Given the description of an element on the screen output the (x, y) to click on. 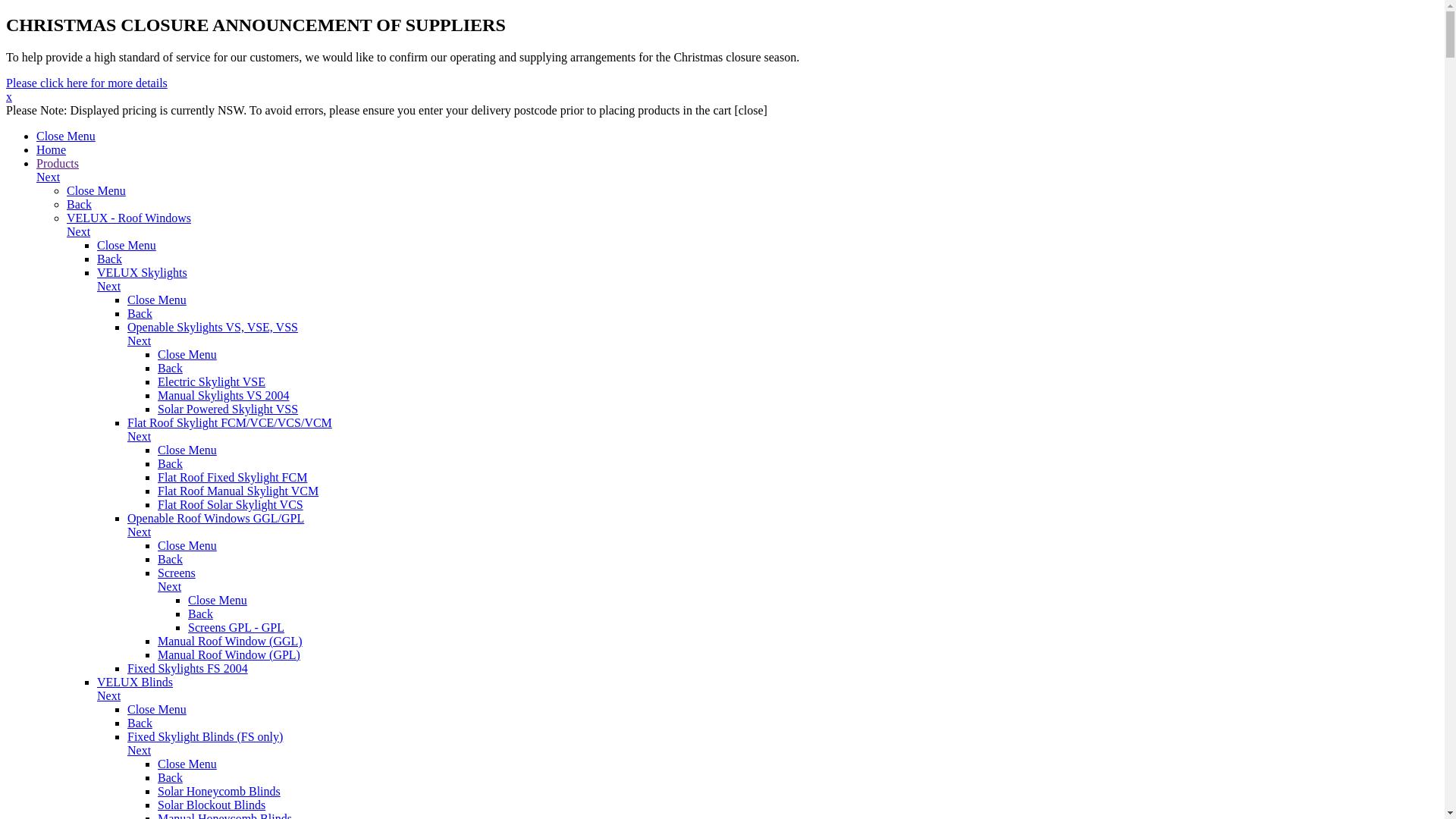
Back Element type: text (169, 463)
Electric Skylight VSE Element type: text (211, 381)
Close Menu Element type: text (186, 449)
Screens GPL - GPL Element type: text (236, 627)
Please click here for more details Element type: text (86, 82)
Flat Roof Solar Skylight VCS Element type: text (230, 504)
Fixed Skylights FS 2004 Element type: text (187, 668)
Close Menu Element type: text (186, 763)
Flat Roof Manual Skylight VCM Element type: text (237, 490)
Flat Roof Fixed Skylight FCM Element type: text (232, 476)
Close Menu Element type: text (126, 244)
Fixed Skylight Blinds (FS only) Element type: text (204, 736)
Next Element type: text (767, 293)
x Element type: text (9, 96)
Close Menu Element type: text (217, 599)
Close Menu Element type: text (186, 354)
Manual Roof Window (GGL) Element type: text (229, 640)
Home Element type: text (50, 149)
Products Element type: text (57, 162)
Close Menu Element type: text (95, 190)
Next Element type: text (782, 443)
Next Element type: text (782, 538)
Next Element type: text (737, 183)
Close Menu Element type: text (156, 708)
Back Element type: text (200, 613)
Back Element type: text (169, 558)
delivery postcode Element type: text (514, 109)
Solar Honeycomb Blinds Element type: text (218, 790)
Next Element type: text (797, 593)
Openable Roof Windows GGL/GPL Element type: text (215, 517)
Back Element type: text (78, 203)
Next Element type: text (767, 702)
Back Element type: text (139, 313)
Back Element type: text (169, 777)
Back Element type: text (169, 367)
Flat Roof Skylight FCM/VCE/VCS/VCM Element type: text (229, 422)
VELUX - Roof Windows Element type: text (128, 217)
Manual Roof Window (GPL) Element type: text (228, 654)
Back Element type: text (139, 722)
Manual Skylights VS 2004 Element type: text (223, 395)
Next Element type: text (782, 757)
VELUX Skylights Element type: text (142, 272)
Solar Powered Skylight VSS Element type: text (227, 408)
Close Menu Element type: text (65, 135)
Close Menu Element type: text (156, 299)
Solar Blockout Blinds Element type: text (211, 804)
Openable Skylights VS, VSE, VSS Element type: text (212, 326)
Close Menu Element type: text (186, 545)
Back Element type: text (109, 258)
VELUX Blinds Element type: text (134, 681)
Screens Element type: text (176, 572)
Next Element type: text (782, 347)
Next Element type: text (752, 238)
[close] Element type: text (750, 109)
